Given the description of an element on the screen output the (x, y) to click on. 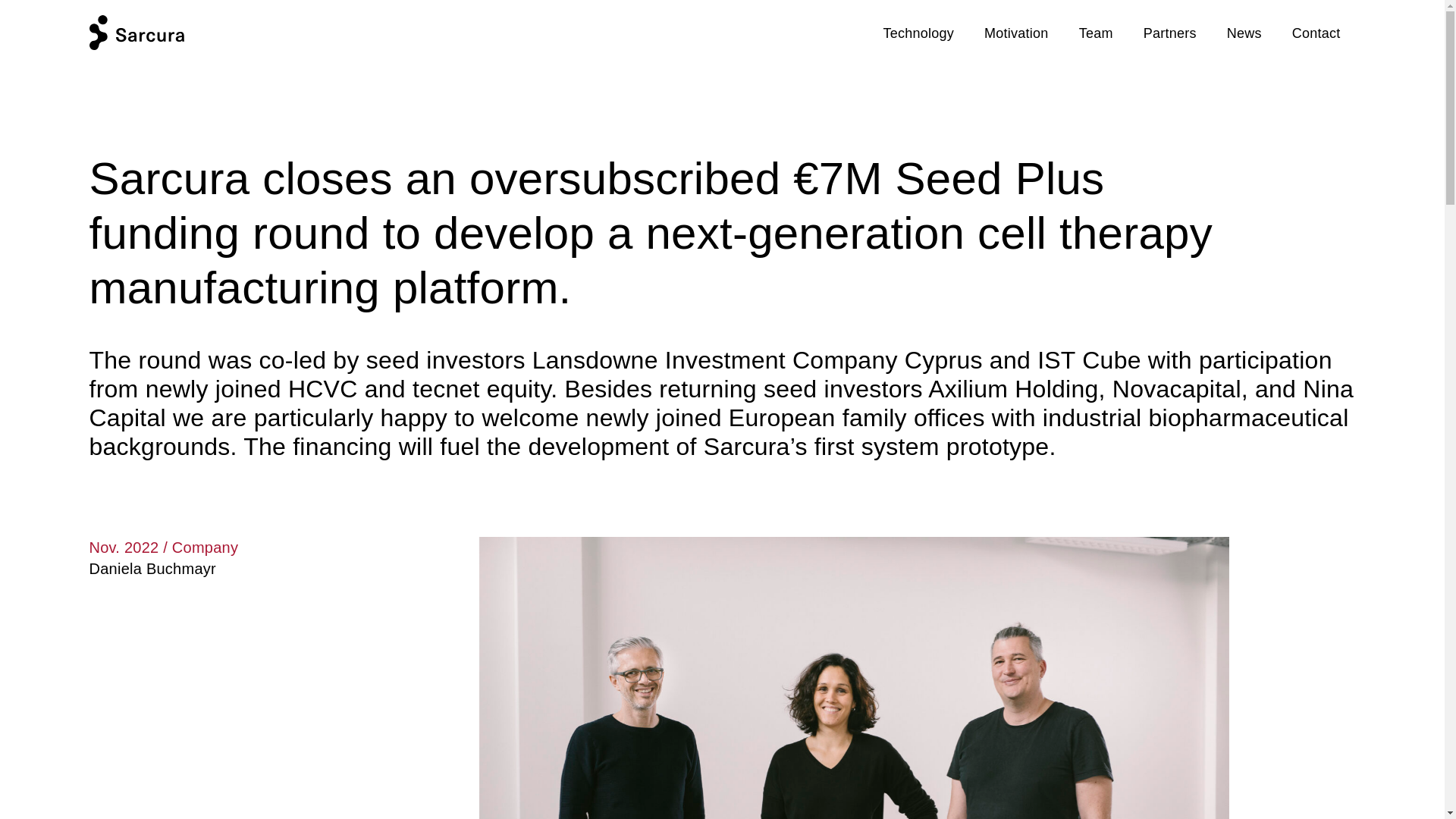
Partners (1169, 32)
Motivation (1016, 32)
Contact (1316, 32)
Technology (919, 32)
Team (1095, 32)
News (1244, 32)
